Given the description of an element on the screen output the (x, y) to click on. 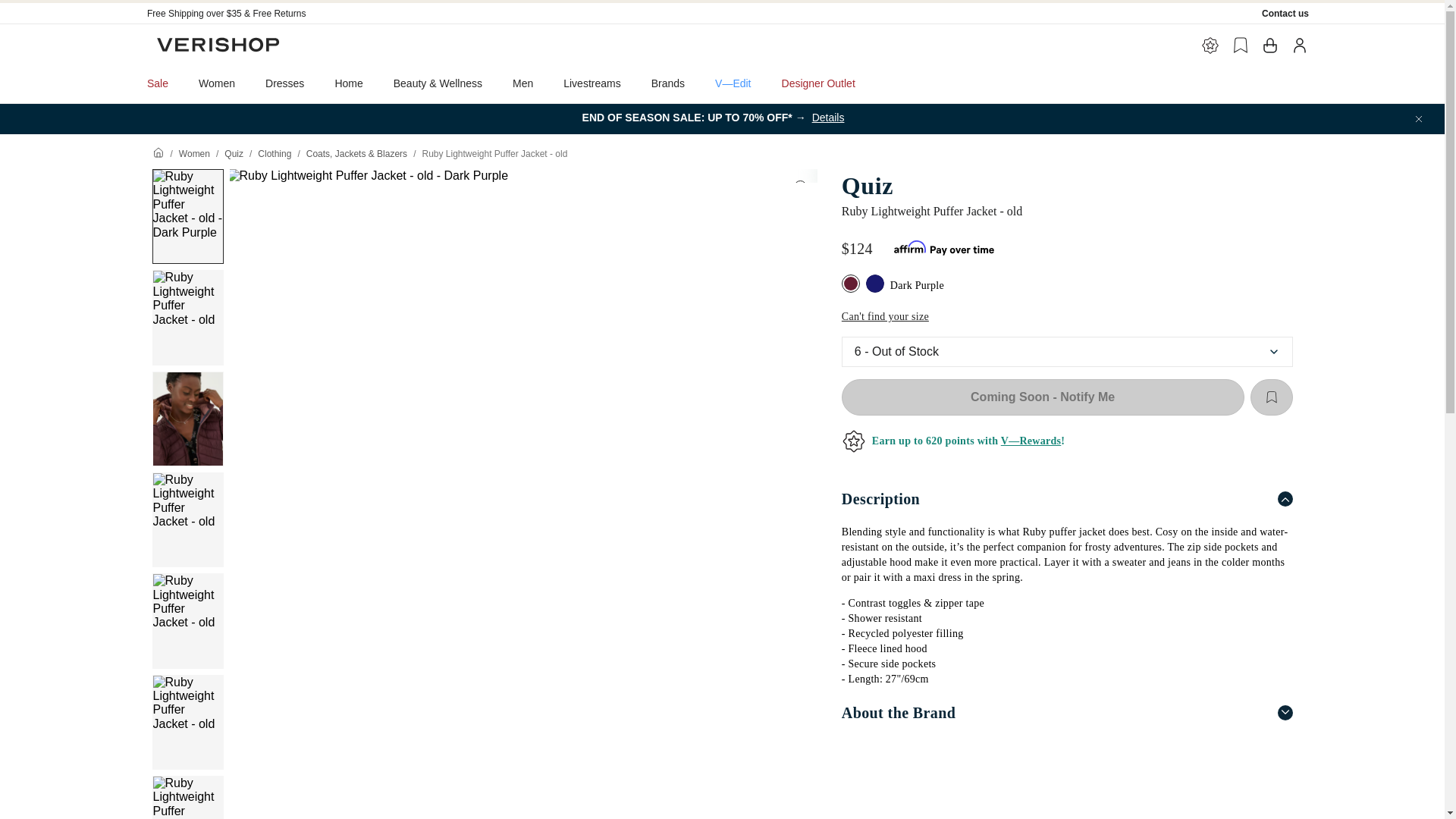
Dark Purple (852, 285)
Contact us (1285, 13)
Brands (668, 82)
Can't find your size (884, 316)
Quiz (233, 153)
Women (194, 153)
Clothing (274, 153)
Navy (876, 285)
skip to main content (53, 6)
Designer Outlet (818, 82)
Quiz (1066, 185)
Livestreams (591, 82)
Dresses (284, 82)
Contact us (1285, 13)
Free Returns (278, 13)
